Given the description of an element on the screen output the (x, y) to click on. 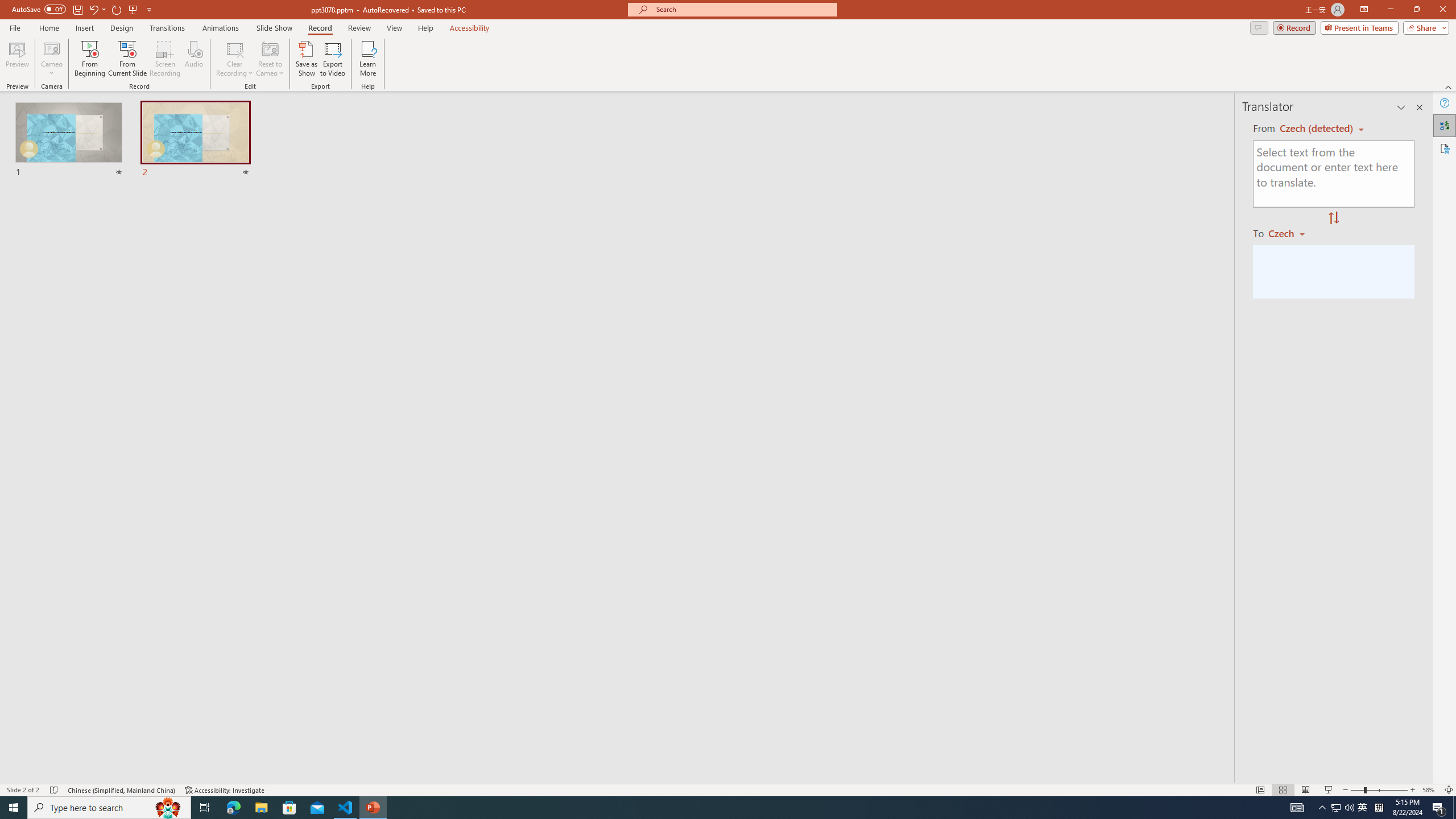
Czech (1291, 232)
From Beginning... (89, 58)
